Given the description of an element on the screen output the (x, y) to click on. 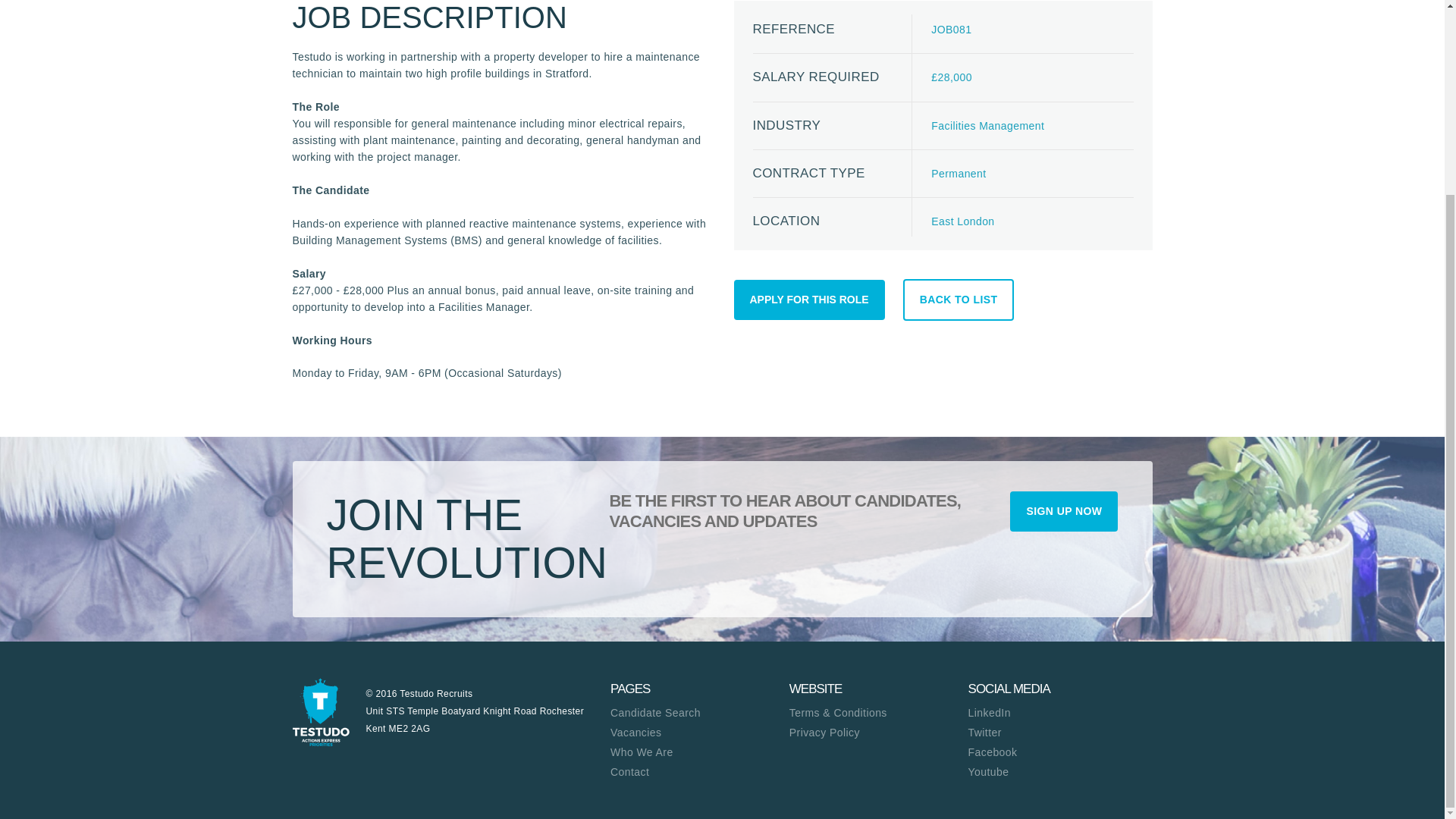
LinkedIn (1057, 713)
Contact (699, 772)
Youtube (1057, 772)
Facebook (1057, 752)
Vacancies (699, 732)
Who We Are (699, 752)
APPLY FOR THIS ROLE (809, 300)
BACK TO LIST (958, 300)
Candidate Search (699, 713)
SIGN UP NOW (1064, 511)
Privacy Policy (878, 732)
Twitter (1057, 732)
